Given the description of an element on the screen output the (x, y) to click on. 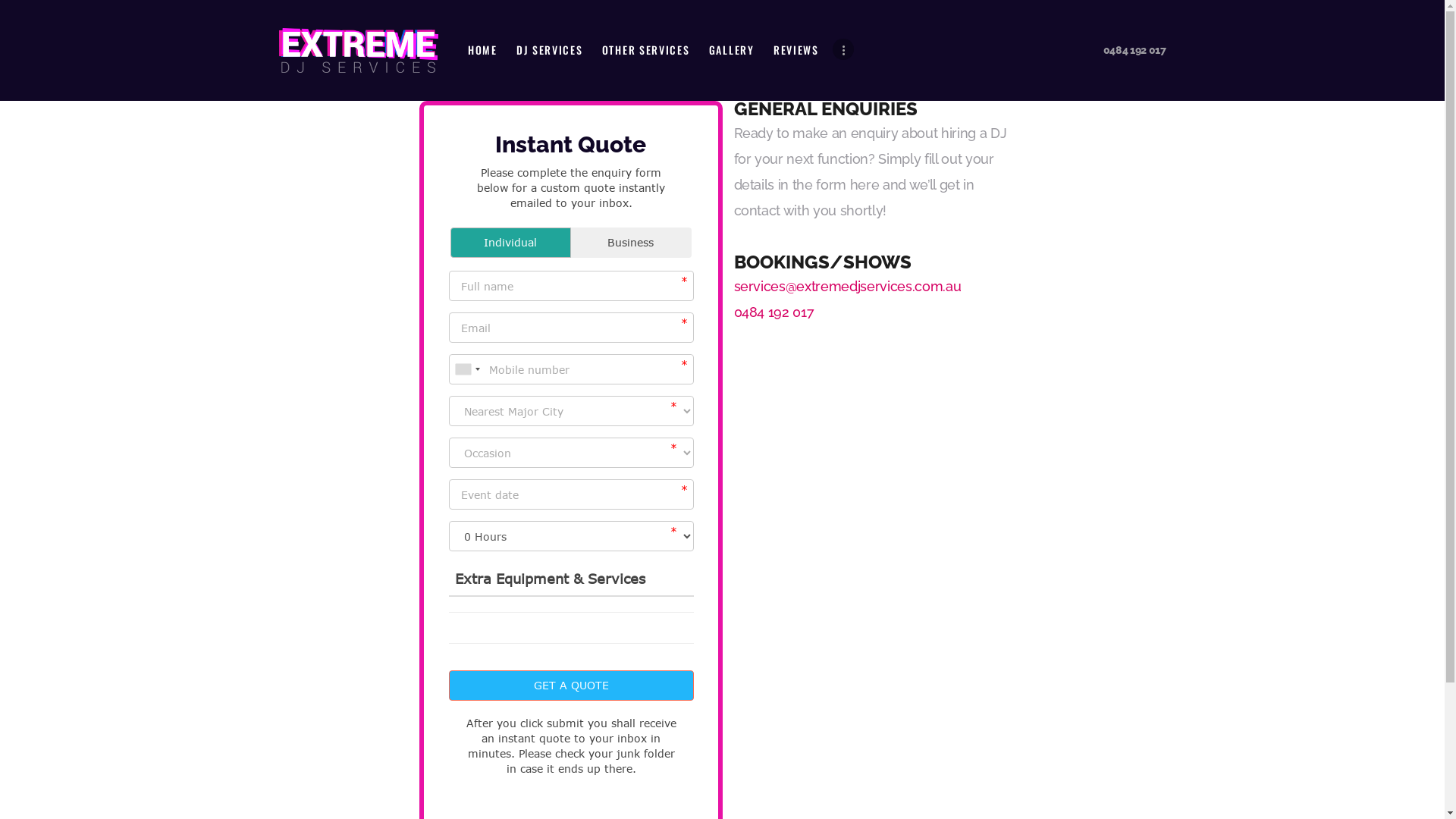
services@extremedjservices.com.au Element type: text (847, 286)
GALLERY Element type: text (731, 49)
HOME Element type: text (482, 49)
0484 192 017 Element type: text (774, 312)
REVIEWS Element type: text (795, 49)
OTHER SERVICES Element type: text (645, 49)
DJ SERVICES Element type: text (549, 49)
